Given the description of an element on the screen output the (x, y) to click on. 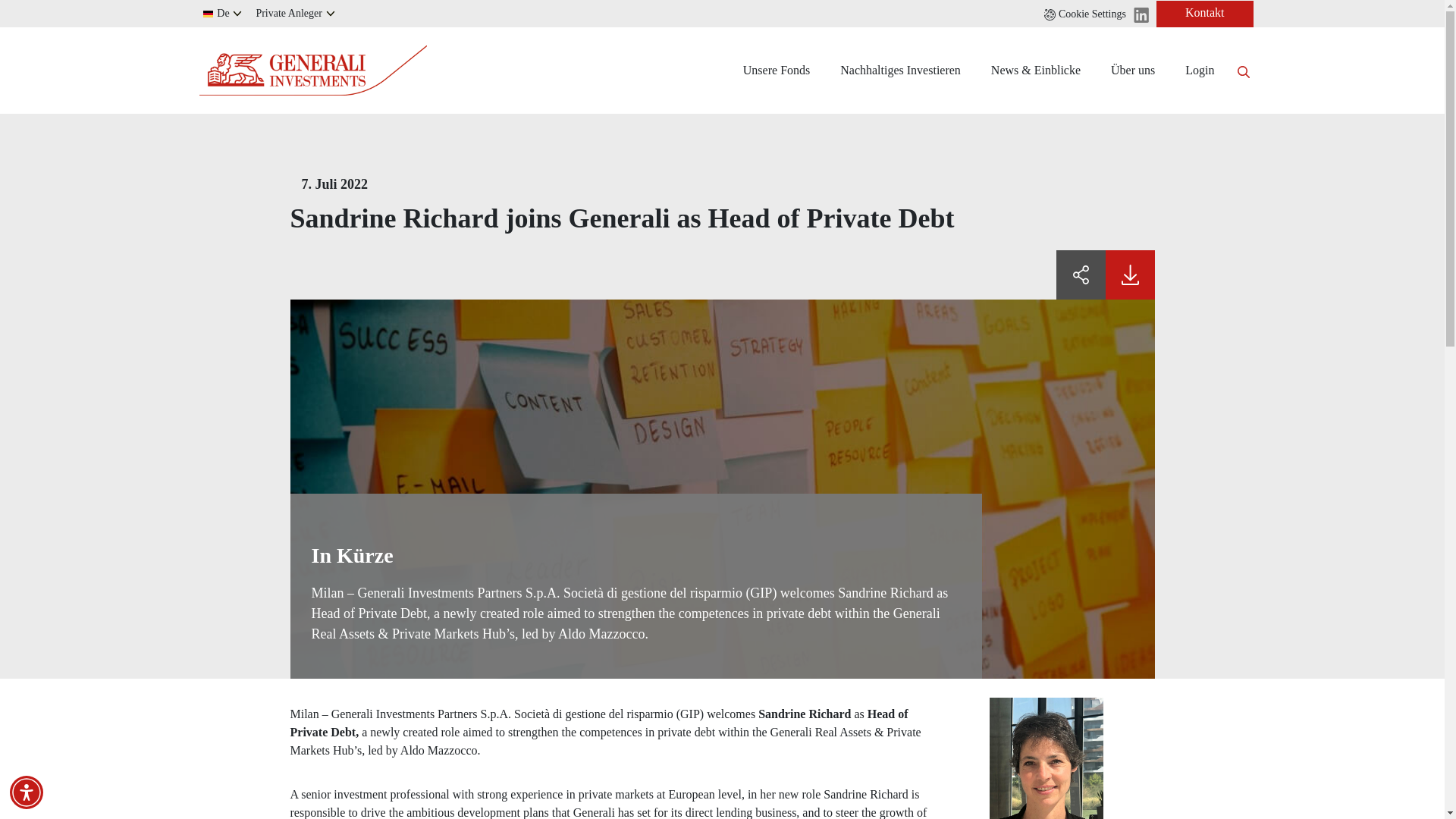
Nachhaltiges Investieren (900, 70)
Accessibility Menu (26, 792)
Unsere Fonds (776, 70)
Kontakt (1204, 13)
